Given the description of an element on the screen output the (x, y) to click on. 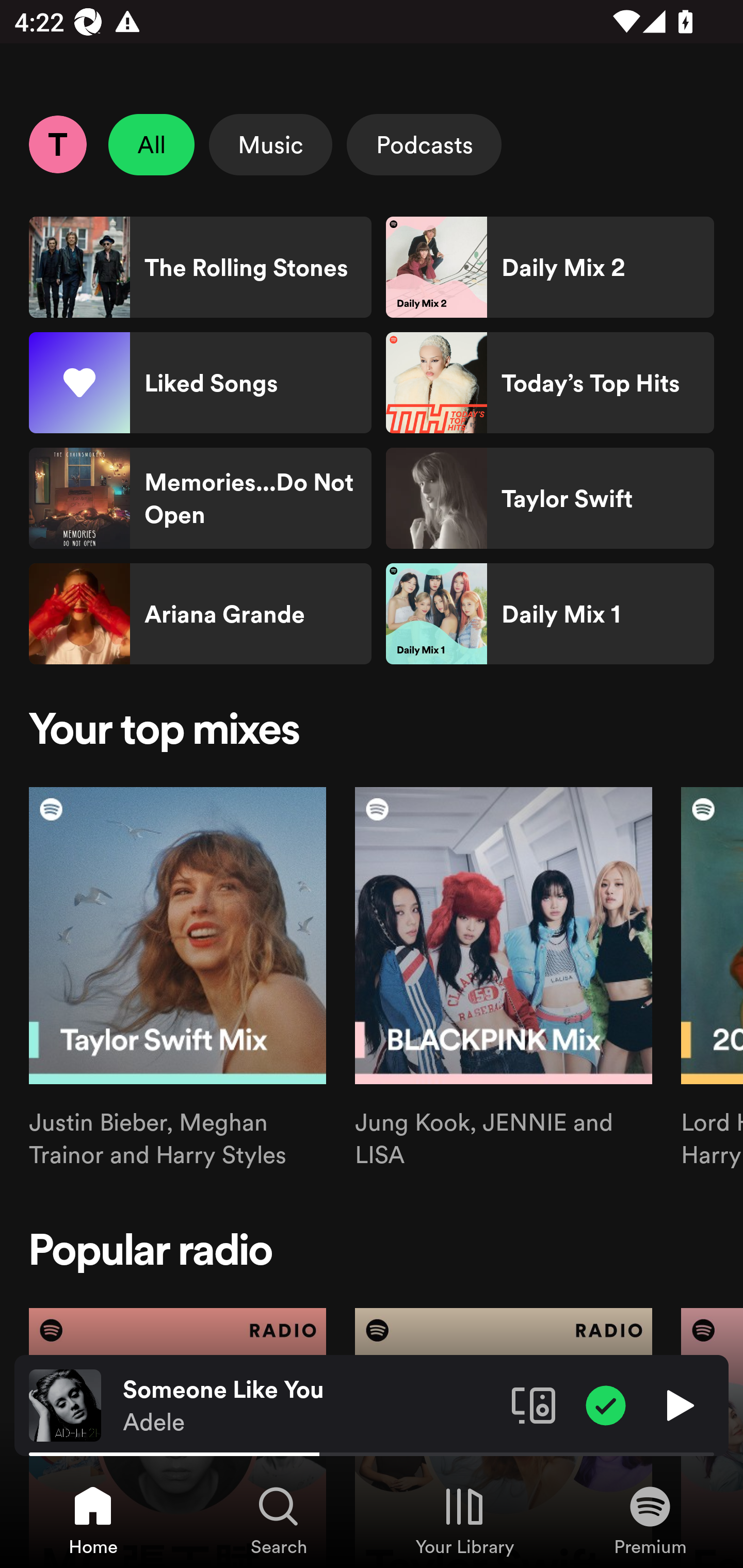
Profile (57, 144)
All Unselect All (151, 144)
Music Select Music (270, 144)
Podcasts Select Podcasts (423, 144)
The Rolling Stones Shortcut The Rolling Stones (199, 267)
Daily Mix 2 Shortcut Daily Mix 2 (549, 267)
Liked Songs Shortcut Liked Songs (199, 382)
Today’s Top Hits Shortcut Today’s Top Hits (549, 382)
Taylor Swift Shortcut Taylor Swift (549, 498)
Ariana Grande Shortcut Ariana Grande (199, 613)
Daily Mix 1 Shortcut Daily Mix 1 (549, 613)
Someone Like You Adele (309, 1405)
The cover art of the currently playing track (64, 1404)
Connect to a device. Opens the devices menu (533, 1404)
Item added (605, 1404)
Play (677, 1404)
Home, Tab 1 of 4 Home Home (92, 1519)
Search, Tab 2 of 4 Search Search (278, 1519)
Your Library, Tab 3 of 4 Your Library Your Library (464, 1519)
Premium, Tab 4 of 4 Premium Premium (650, 1519)
